Given the description of an element on the screen output the (x, y) to click on. 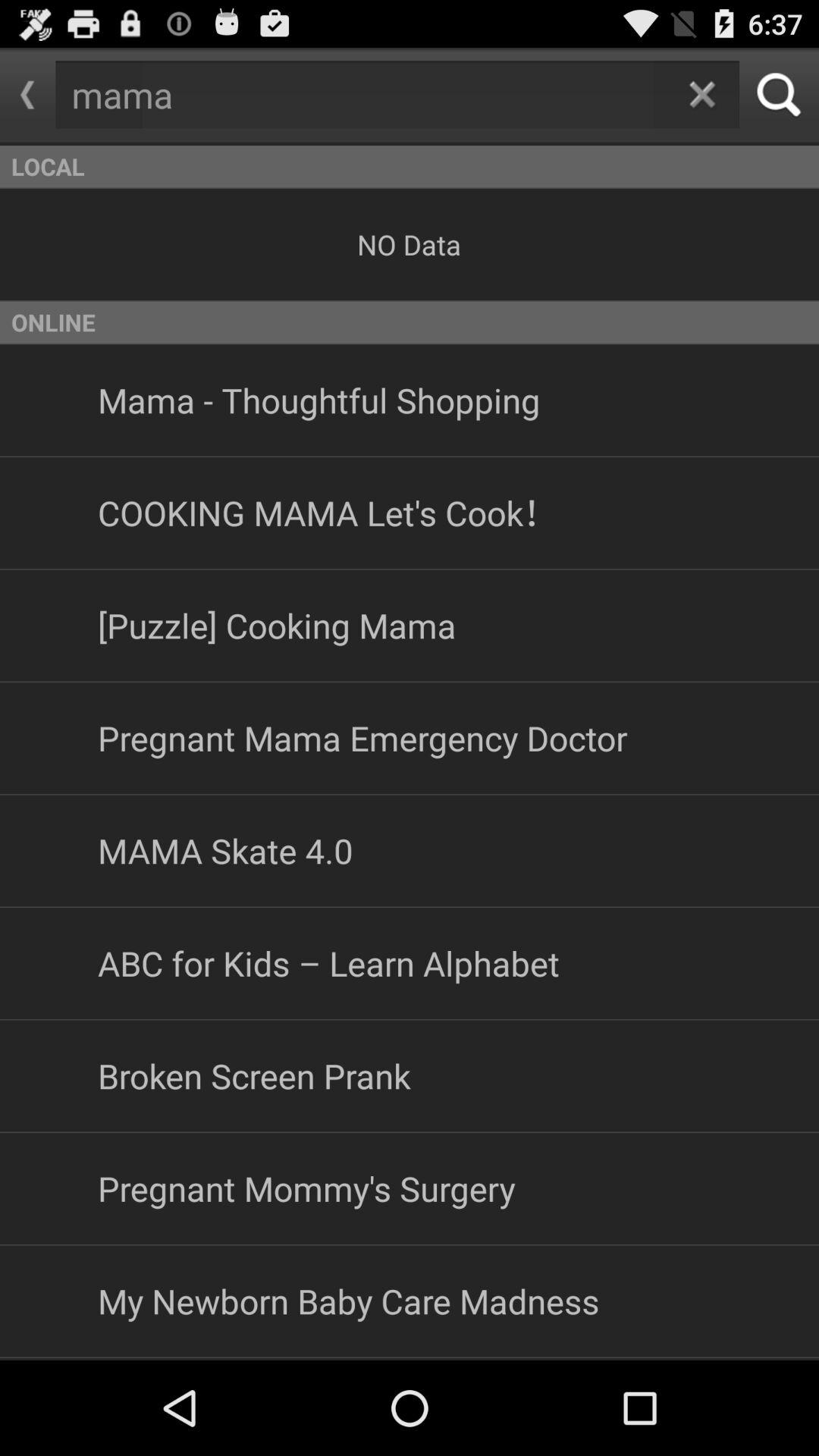
come back (701, 94)
